Given the description of an element on the screen output the (x, y) to click on. 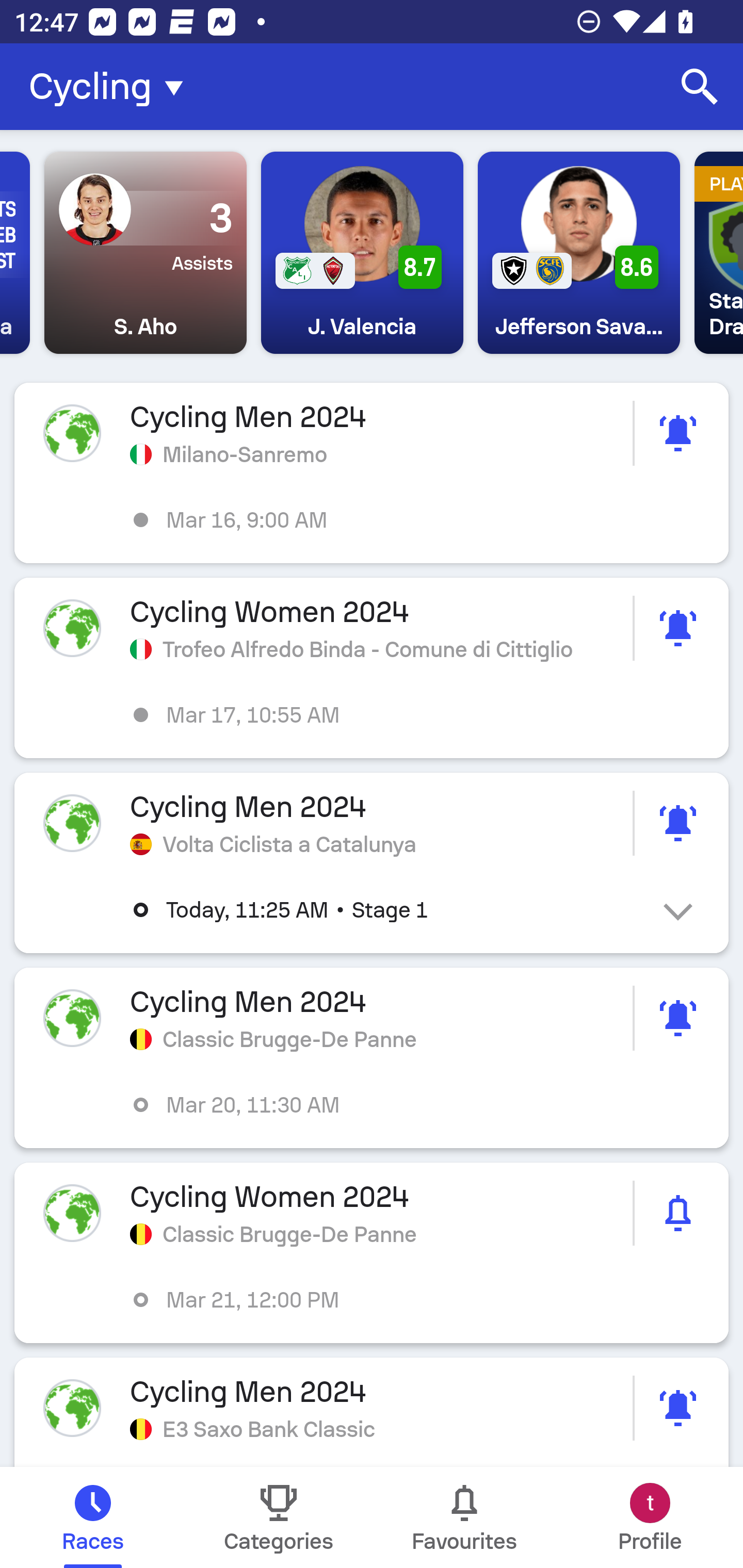
Cycling (111, 86)
Search (699, 86)
8.7 J. Valencia (361, 253)
8.6 Jefferson Savarino (578, 253)
Today, 11:25 AM • Stage 1 (385, 910)
Cycling Men 2024 E3 Saxo Bank Classic picture (371, 1412)
Categories (278, 1517)
Favourites (464, 1517)
Profile (650, 1517)
